Given the description of an element on the screen output the (x, y) to click on. 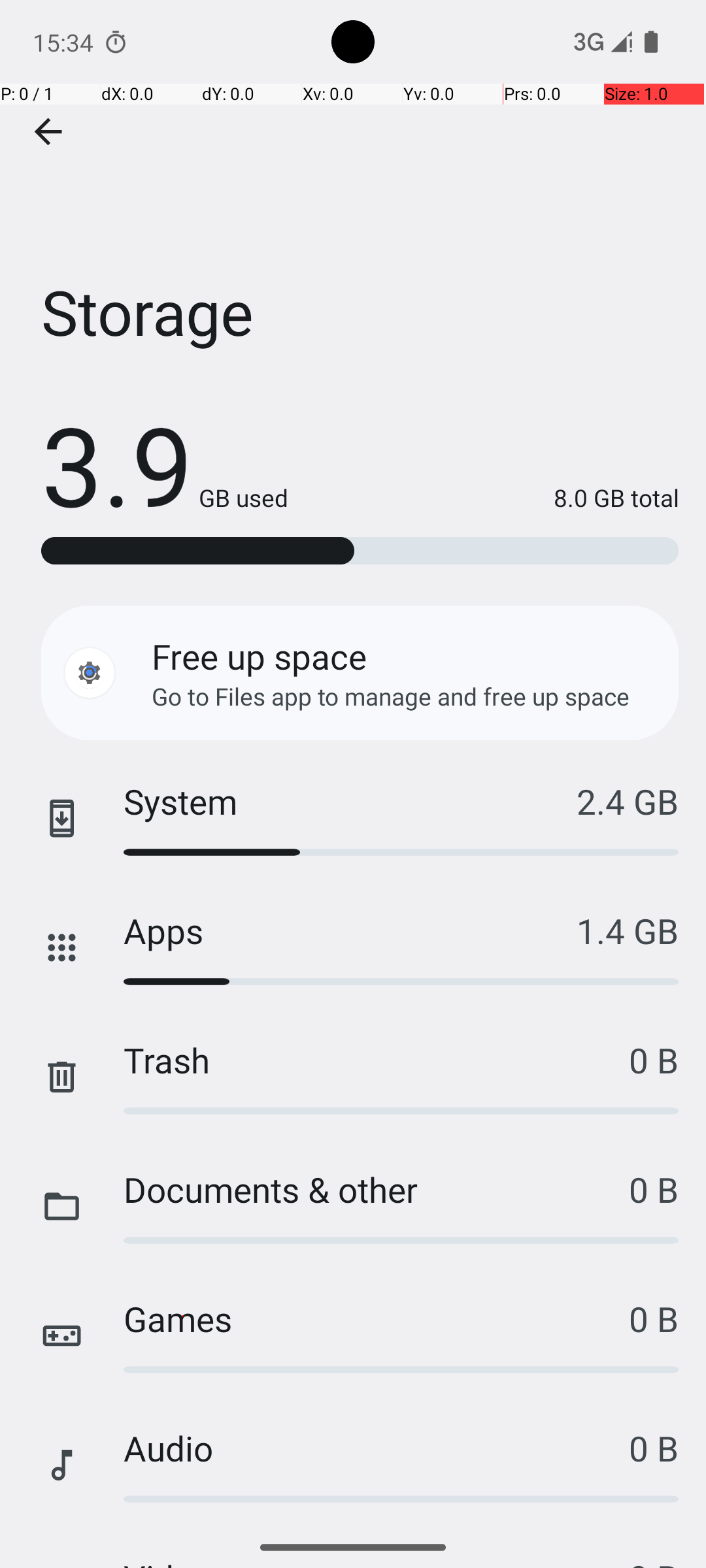
3.9 GB used Element type: android.widget.TextView (164, 463)
2.4 GB Element type: android.widget.TextView (627, 801)
